Given the description of an element on the screen output the (x, y) to click on. 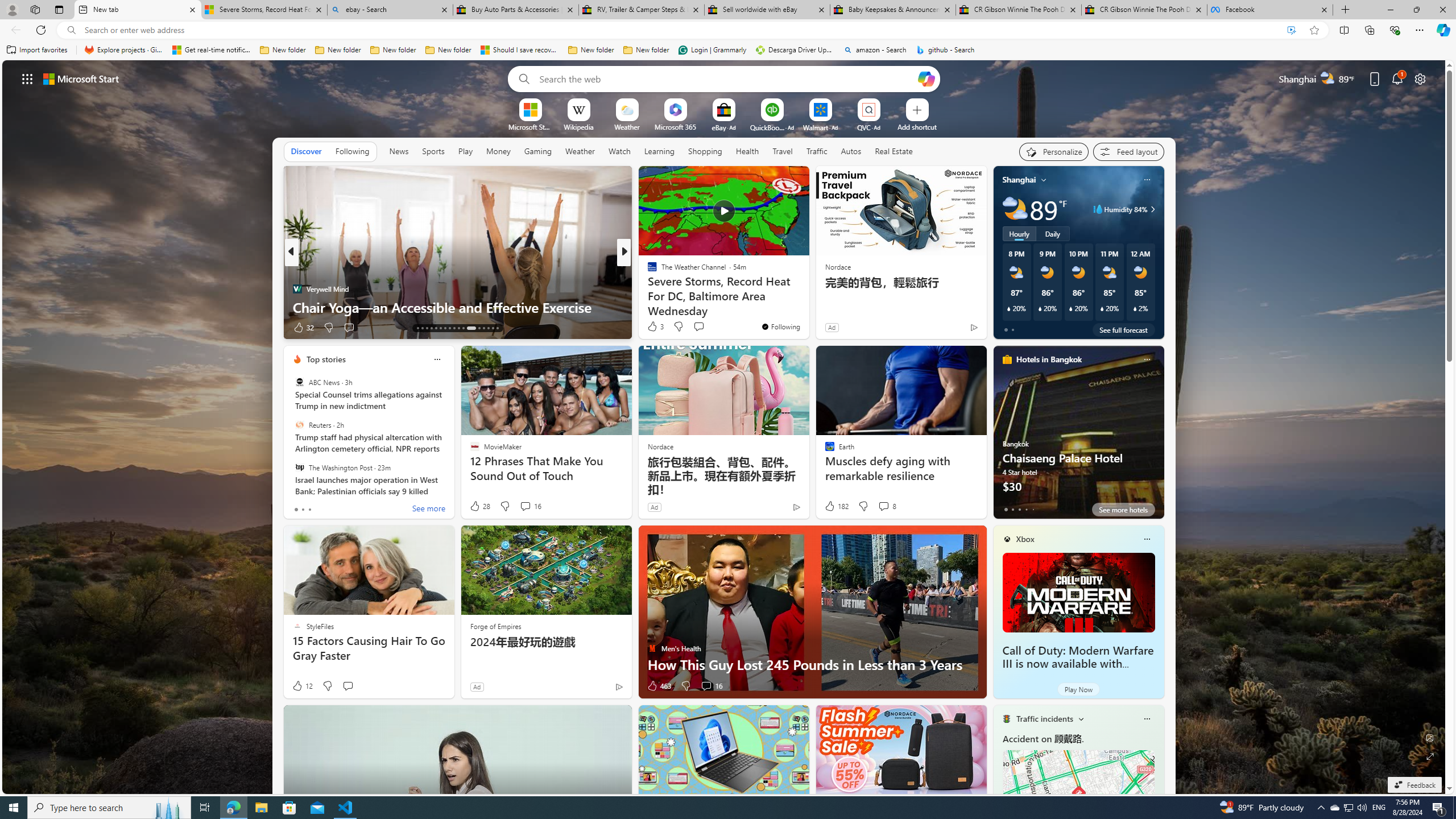
Play (465, 151)
Import favorites (36, 49)
hotels-header-icon (1006, 358)
Personalize your feed" (1054, 151)
My location (1043, 179)
View comments 8 Comment (887, 505)
Hide this story (774, 179)
